Given the description of an element on the screen output the (x, y) to click on. 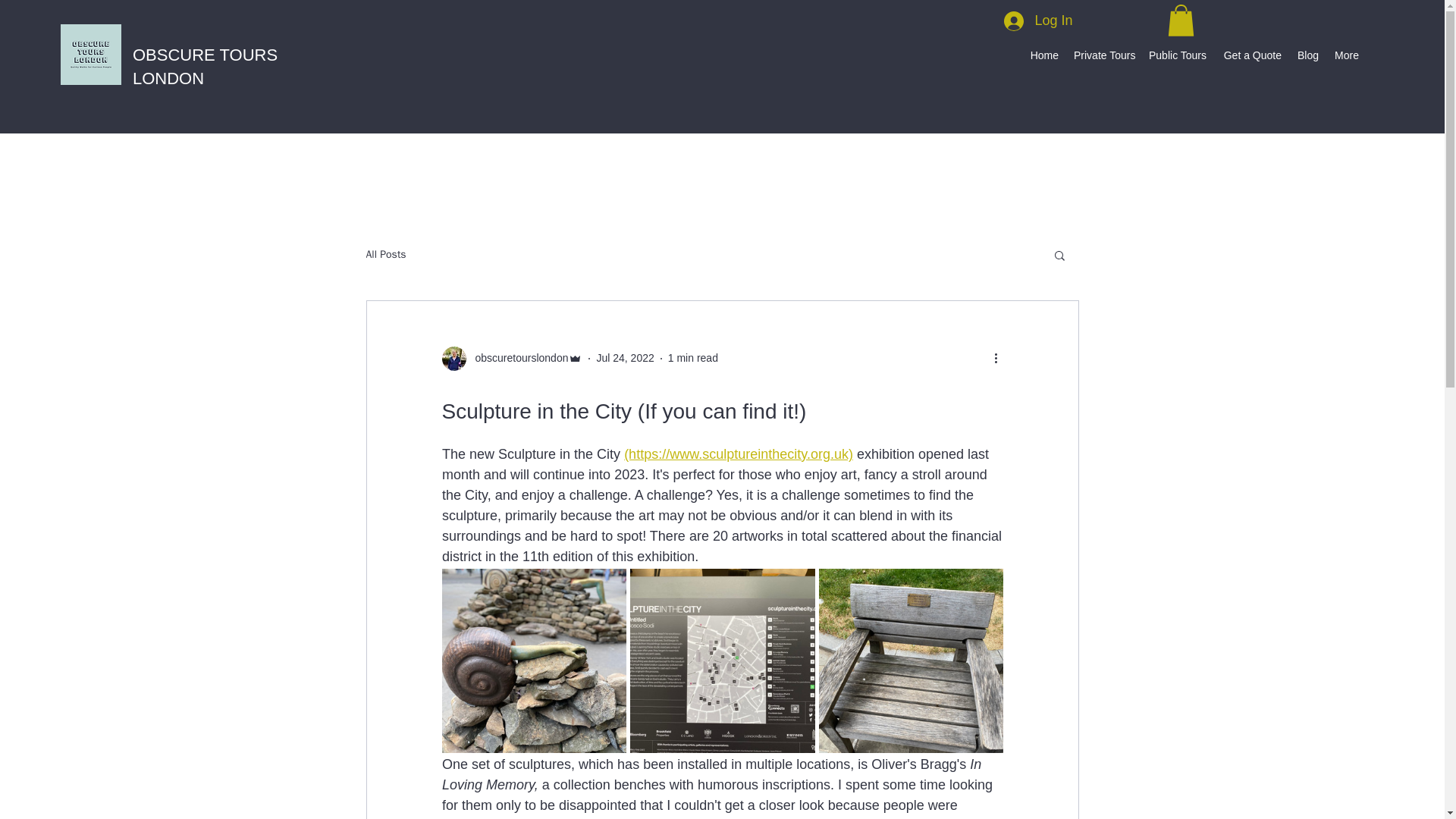
Get a Quote (1250, 55)
Log In (1037, 20)
Private Tours (1103, 55)
OBSCURE TOURS LONDON (205, 66)
obscuretourslondon (516, 358)
Home (1043, 55)
1 min read (692, 357)
Public Tours (1176, 55)
Blog (1307, 55)
Jul 24, 2022 (624, 357)
All Posts (385, 254)
obscuretourslondon (511, 358)
